Given the description of an element on the screen output the (x, y) to click on. 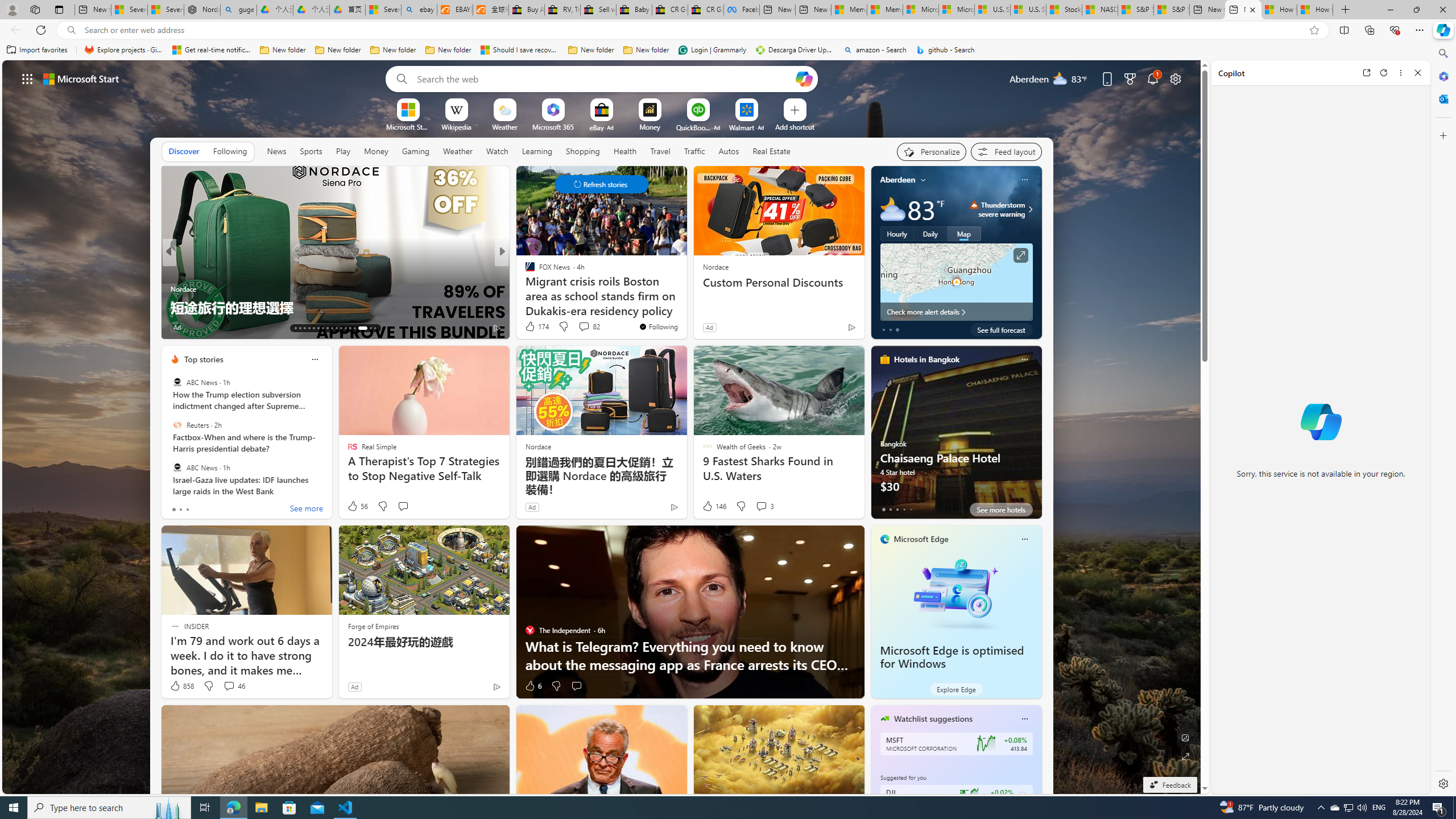
S&P 500, Nasdaq end lower, weighed by Nvidia dip | Watch (1170, 9)
View comments 82 Comment (583, 326)
App bar (728, 29)
AutomationID: tab-26 (354, 328)
Play (342, 151)
Daily (929, 233)
ebay - Search (419, 9)
AutomationID: tab-29 (374, 328)
AutomationID: tab-28 (366, 328)
tab-3 (903, 509)
Sports (310, 151)
